Given the description of an element on the screen output the (x, y) to click on. 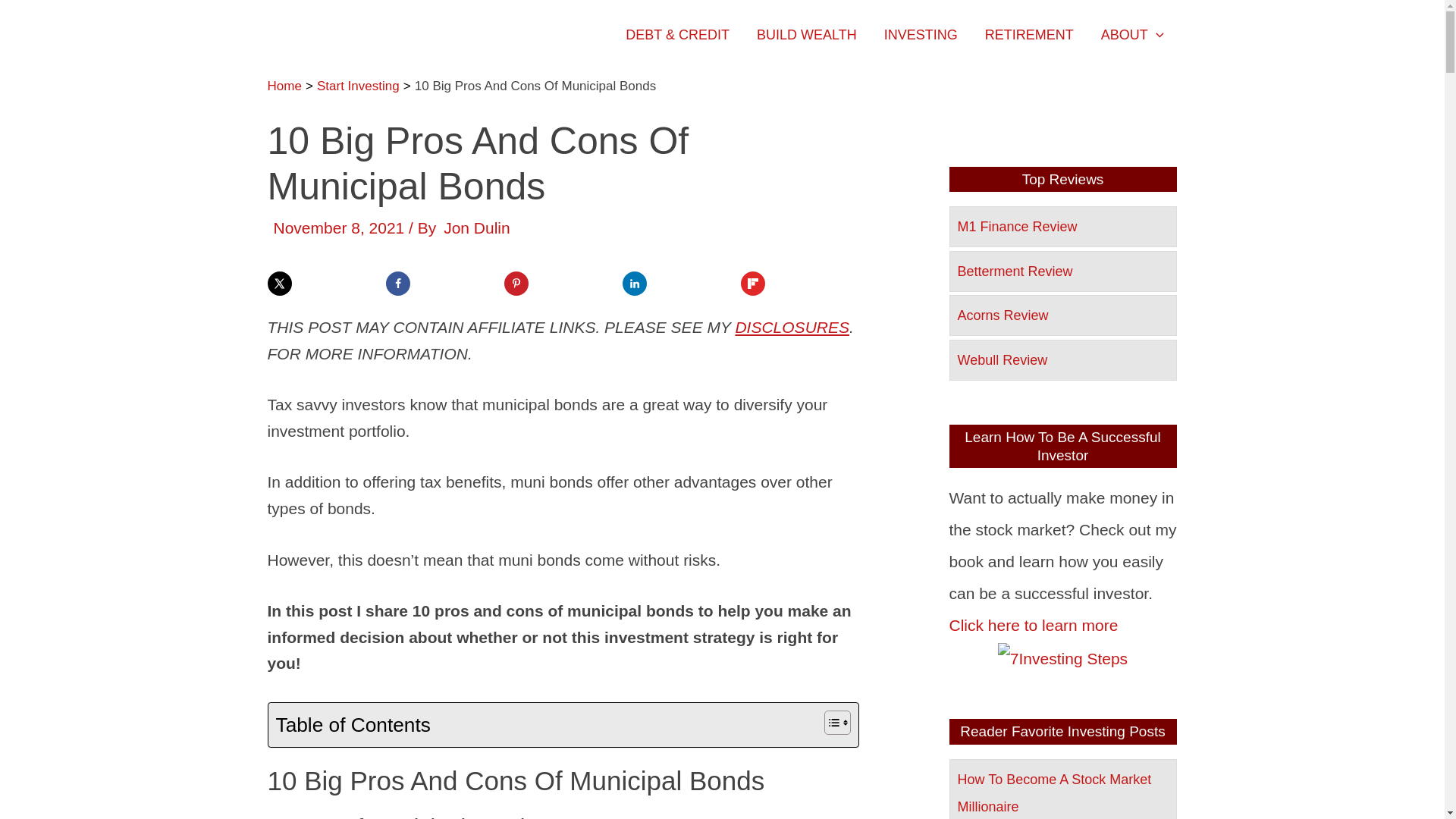
Share on LinkedIn (633, 283)
Share on Flipboard (751, 283)
INVESTING (920, 34)
Save to Pinterest (515, 283)
ABOUT (1132, 34)
View all posts by Jon Dulin (477, 227)
RETIREMENT (1029, 34)
Share on X (278, 283)
Share on Facebook (397, 283)
BUILD WEALTH (806, 34)
